Given the description of an element on the screen output the (x, y) to click on. 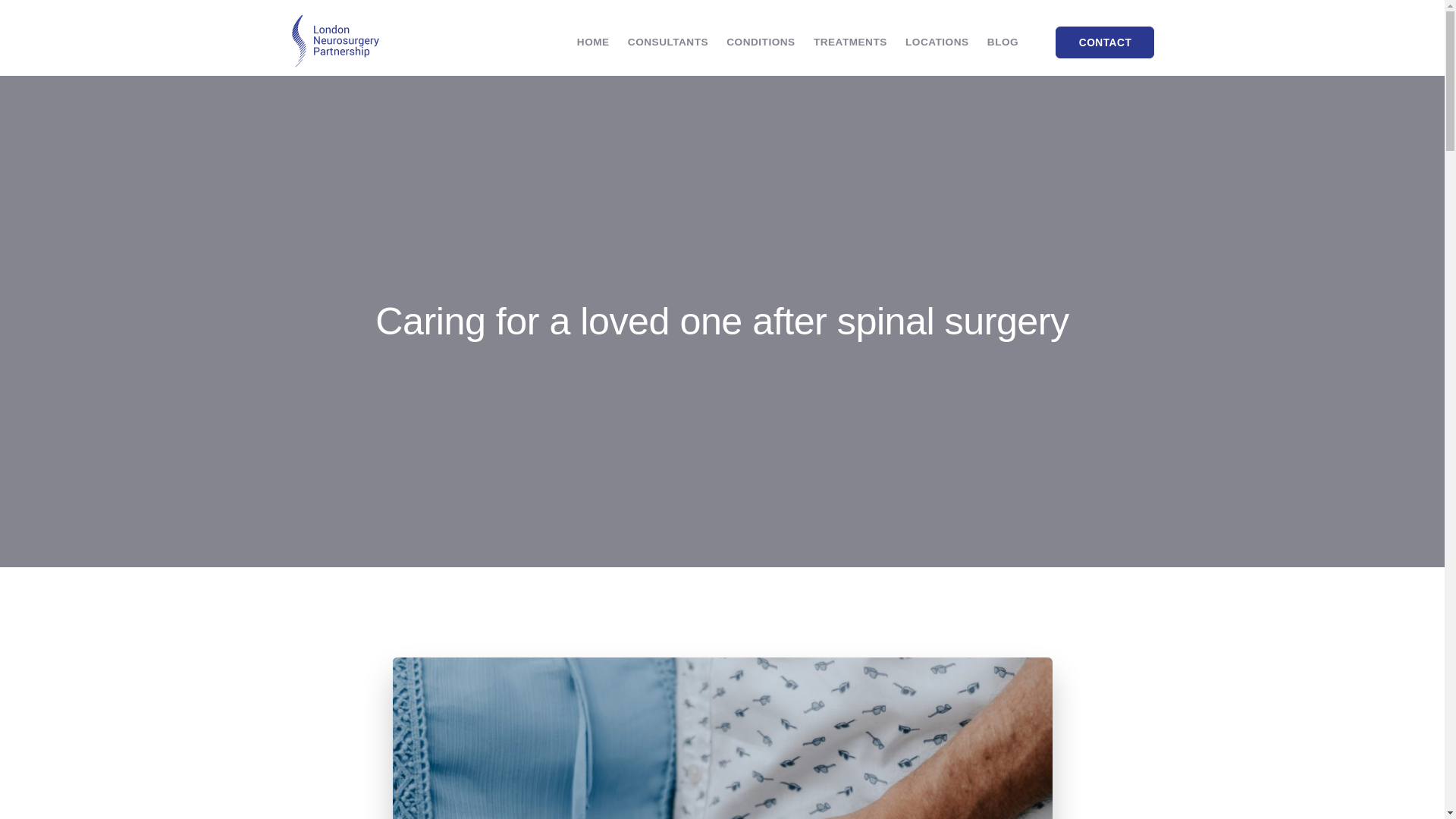
TREATMENTS (849, 41)
CONTACT (1104, 42)
CONSULTANTS (667, 41)
HOME (593, 41)
CONDITIONS (760, 41)
BLOG (1002, 41)
LOCATIONS (937, 41)
